Given the description of an element on the screen output the (x, y) to click on. 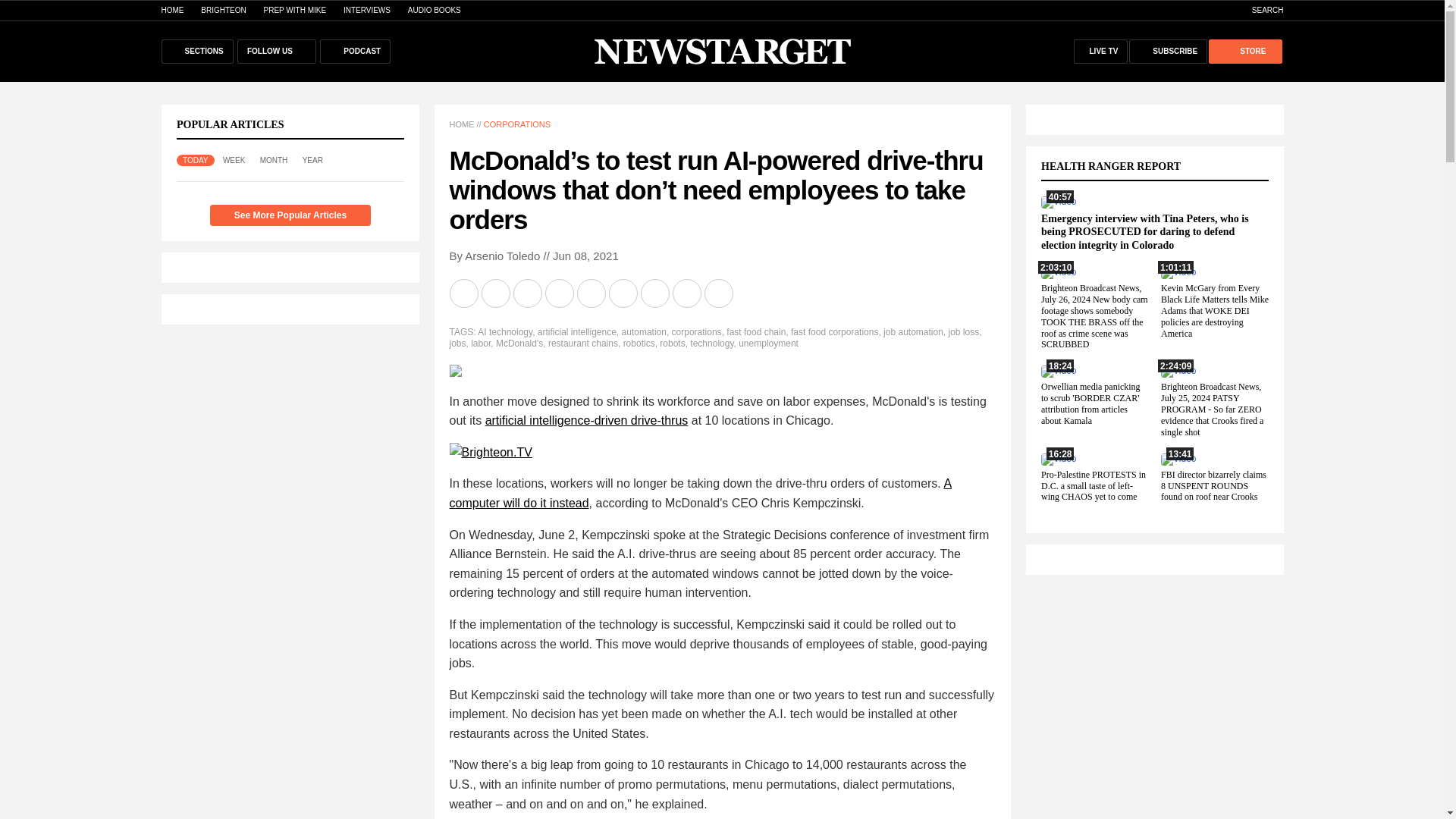
1:01:11 (1177, 271)
INTERVIEWS (366, 9)
Share on GAB (592, 293)
Share on Truth.Social (655, 293)
More Share Options (719, 293)
Share on Gettr (687, 293)
HOME (171, 9)
PODCAST (355, 51)
Share on Brighteon.Social (464, 293)
2:03:10 (1058, 271)
LIVE TV (1101, 51)
AI technology (504, 331)
AUDIO BOOKS (434, 9)
HOME (461, 123)
